Given the description of an element on the screen output the (x, y) to click on. 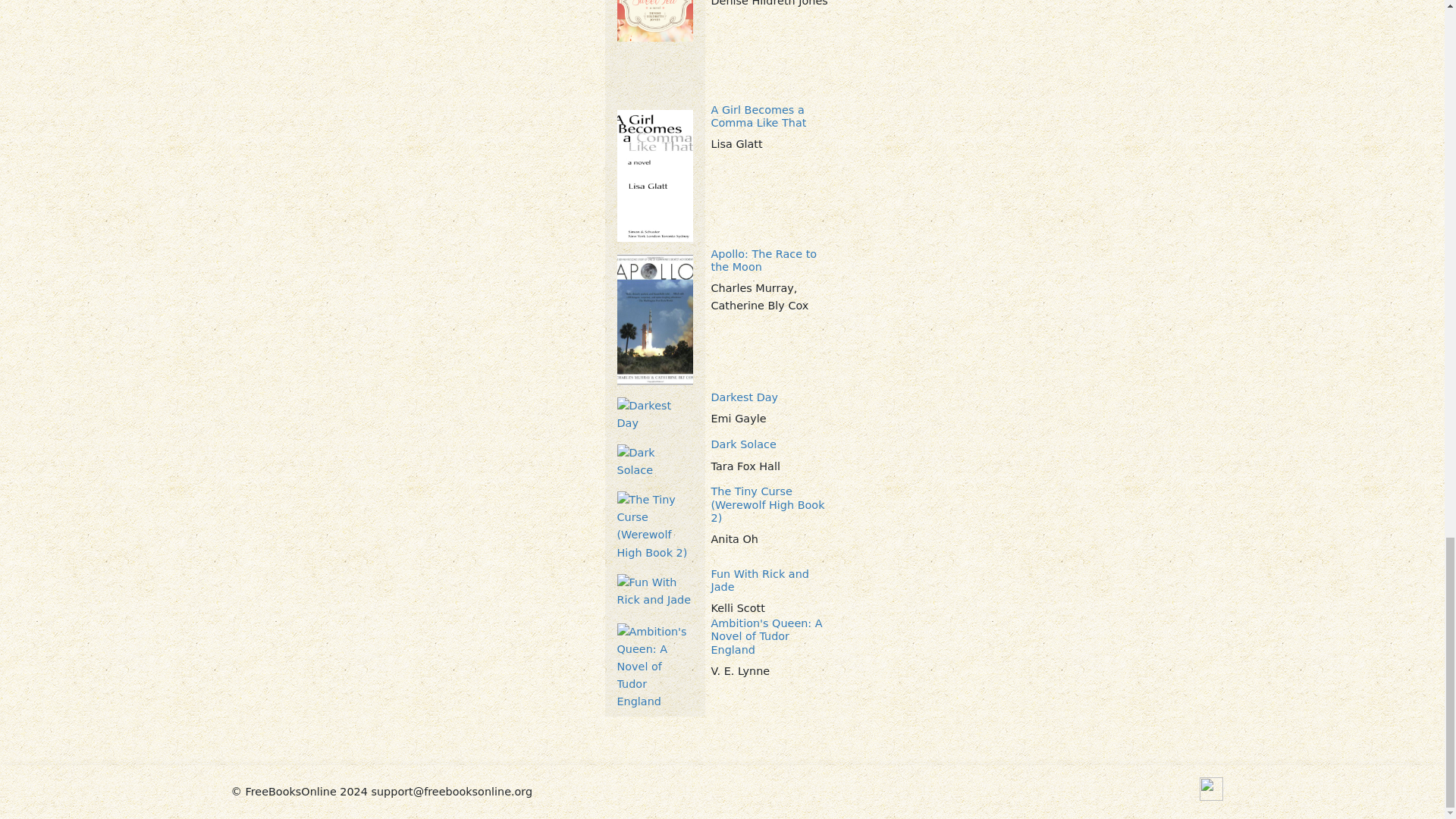
LiveInternet (1211, 788)
